Given the description of an element on the screen output the (x, y) to click on. 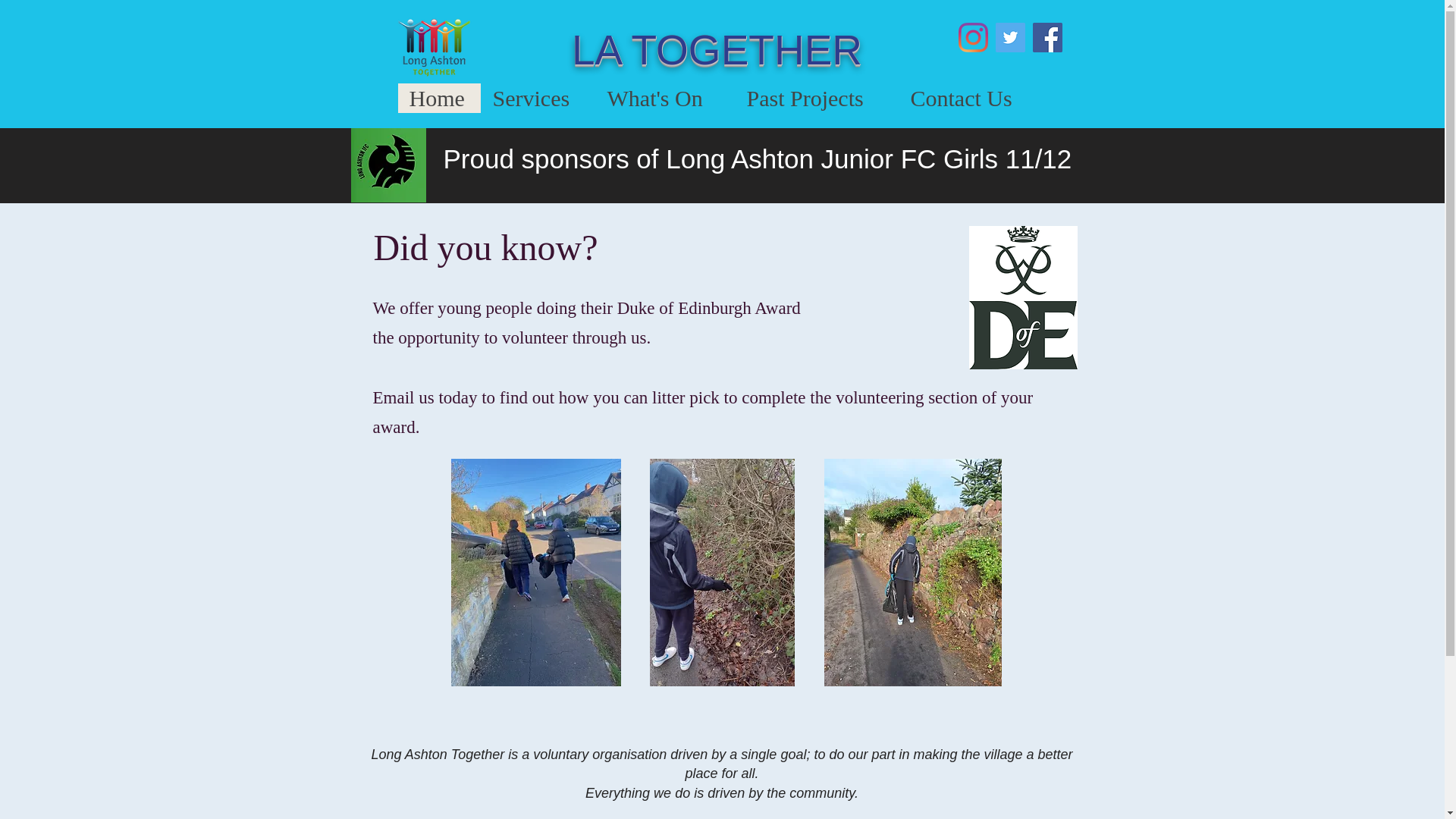
What's On (663, 98)
LA TOGETHER (716, 49)
Services (537, 98)
Home (438, 98)
Past Projects (815, 98)
Contact Us (968, 98)
